Given the description of an element on the screen output the (x, y) to click on. 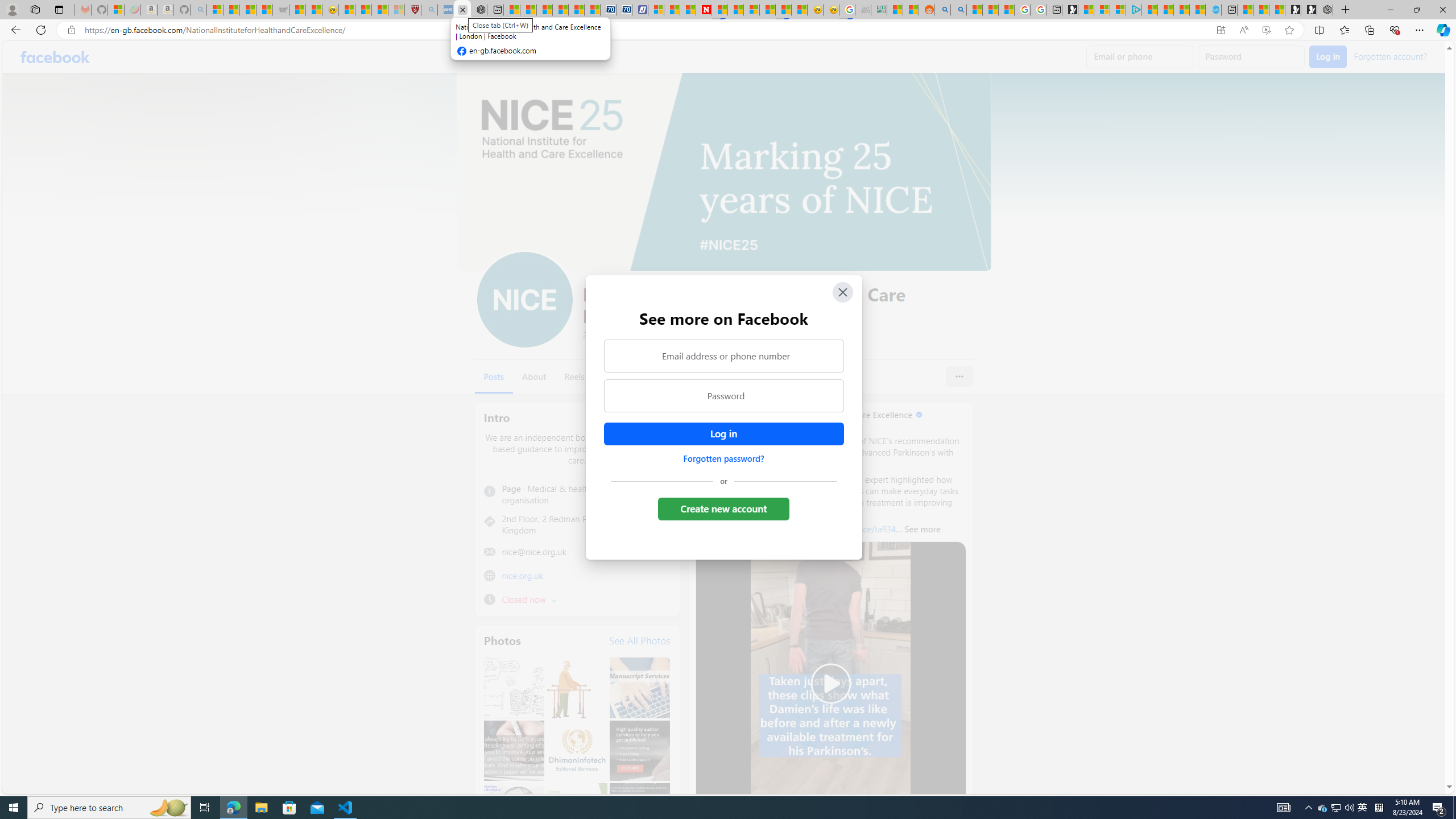
Facebook (55, 56)
Recipes - MSN (346, 9)
App available. Install Facebook (1220, 29)
